Given the description of an element on the screen output the (x, y) to click on. 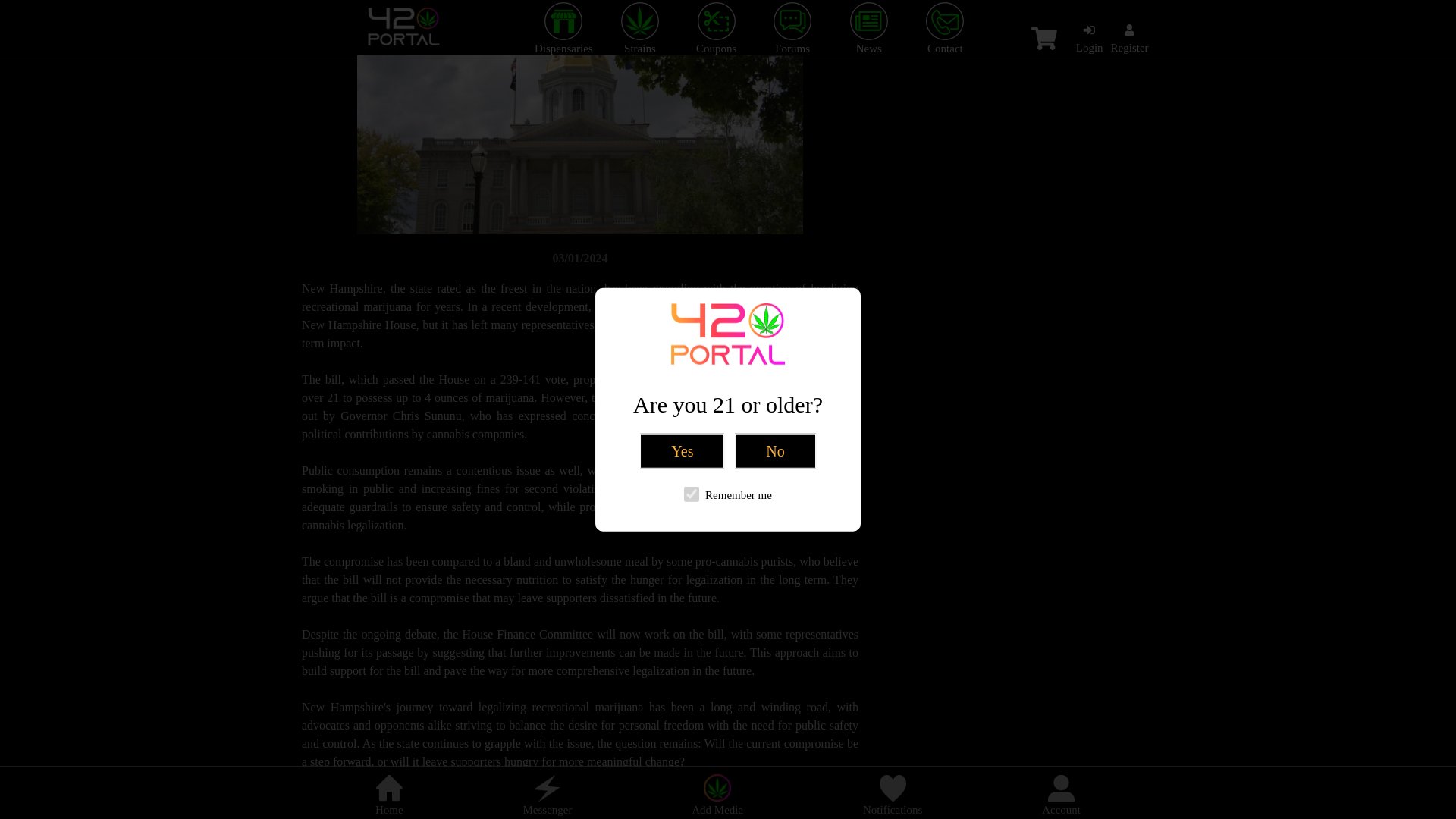
Messenger (547, 579)
Yes (681, 230)
Reference (325, 797)
No (775, 230)
Account (1061, 579)
Add Media (716, 579)
on (691, 273)
Notifications (892, 579)
